Given the description of an element on the screen output the (x, y) to click on. 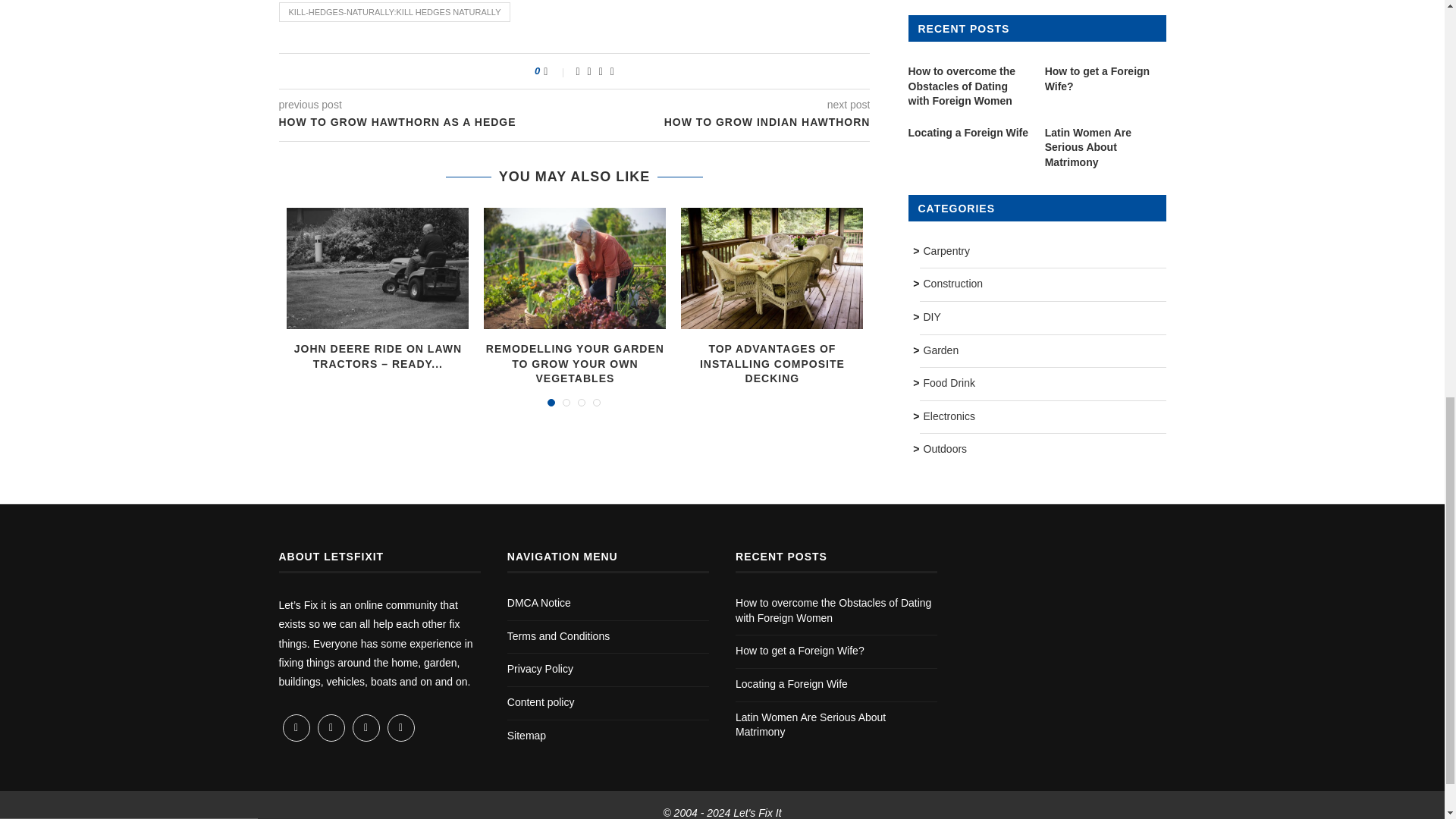
Like (555, 70)
Top Advantages of Installing Composite Decking (772, 268)
Remodelling Your Garden To Grow Your Own Vegetables (574, 268)
